Given the description of an element on the screen output the (x, y) to click on. 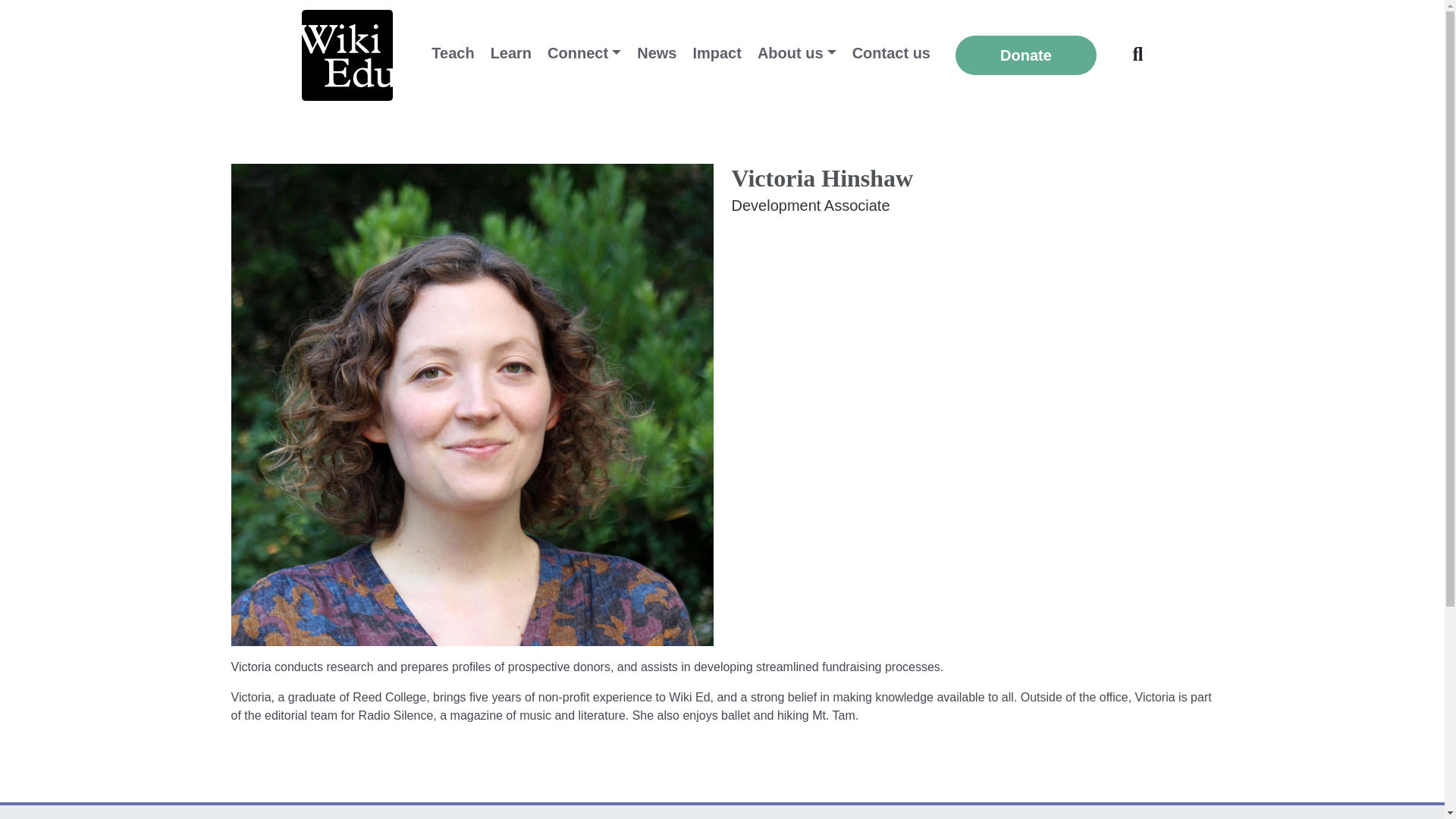
About us (797, 53)
Connect (584, 53)
Impact (715, 53)
Learn (510, 53)
Teach (452, 53)
Impact (715, 53)
Contact us (890, 53)
Donate (1026, 54)
Learn (510, 53)
Connect (584, 53)
About us (797, 53)
News (656, 53)
Teach (452, 53)
News (656, 53)
